Given the description of an element on the screen output the (x, y) to click on. 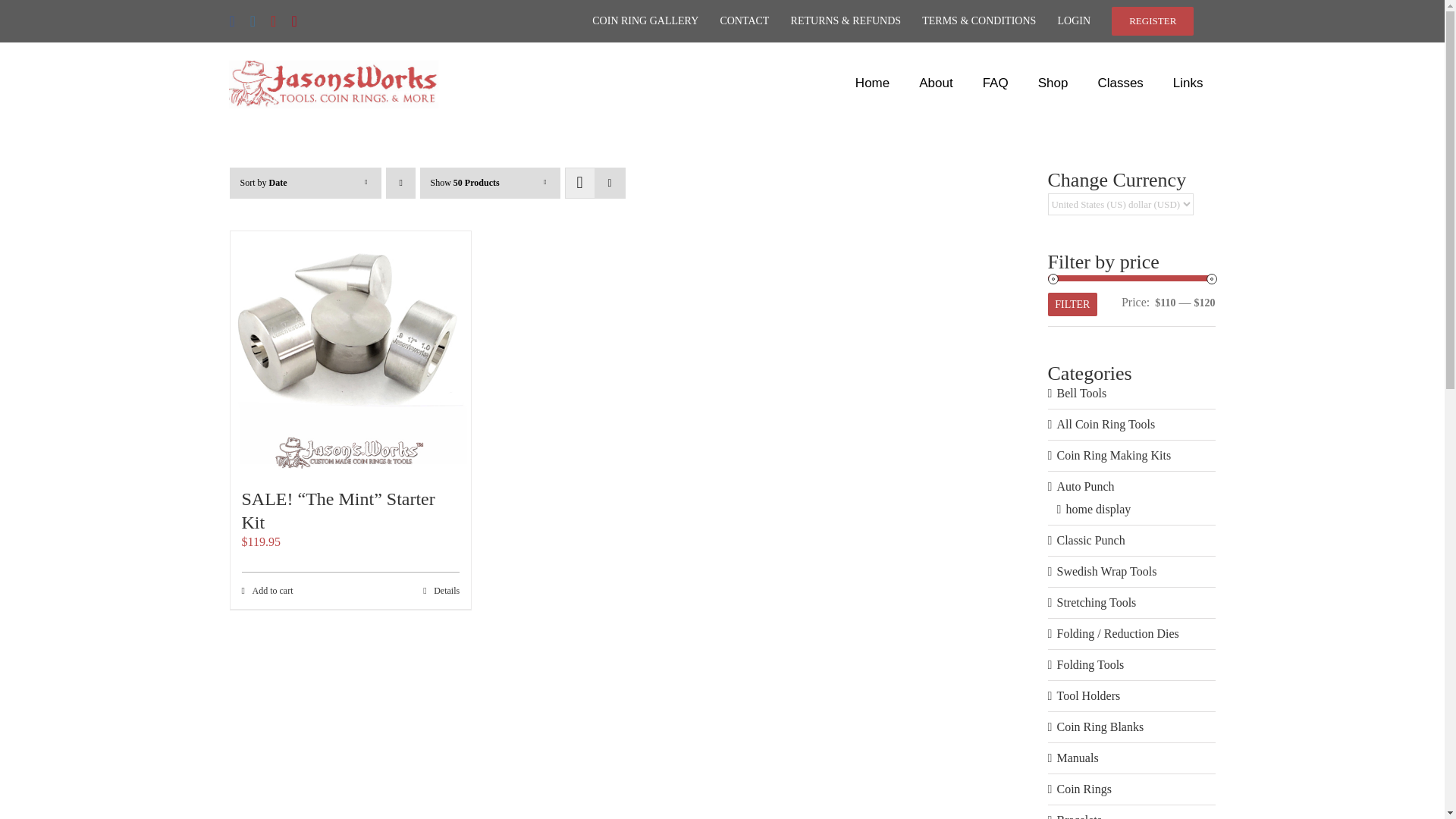
About (935, 83)
FAQ (995, 83)
CONTACT (743, 21)
REGISTER (1152, 21)
Home (872, 83)
LOGIN (1073, 21)
Classes (1119, 83)
Links (1187, 83)
Shop (1053, 83)
COIN RING GALLERY (645, 21)
